Given the description of an element on the screen output the (x, y) to click on. 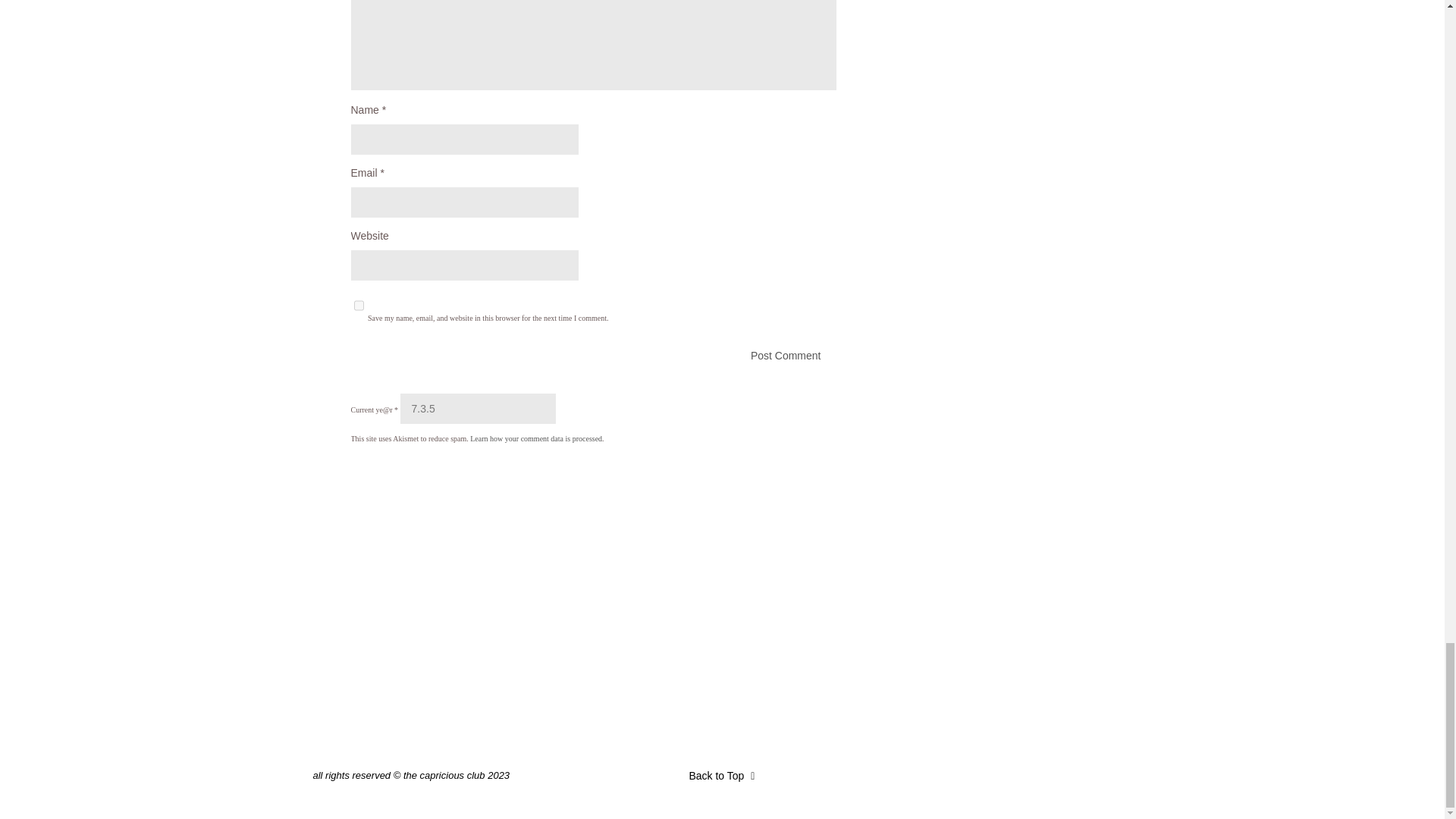
Post Comment (592, 355)
Post Comment (592, 355)
7.3.5 (478, 408)
Learn how your comment data is processed (536, 438)
